Given the description of an element on the screen output the (x, y) to click on. 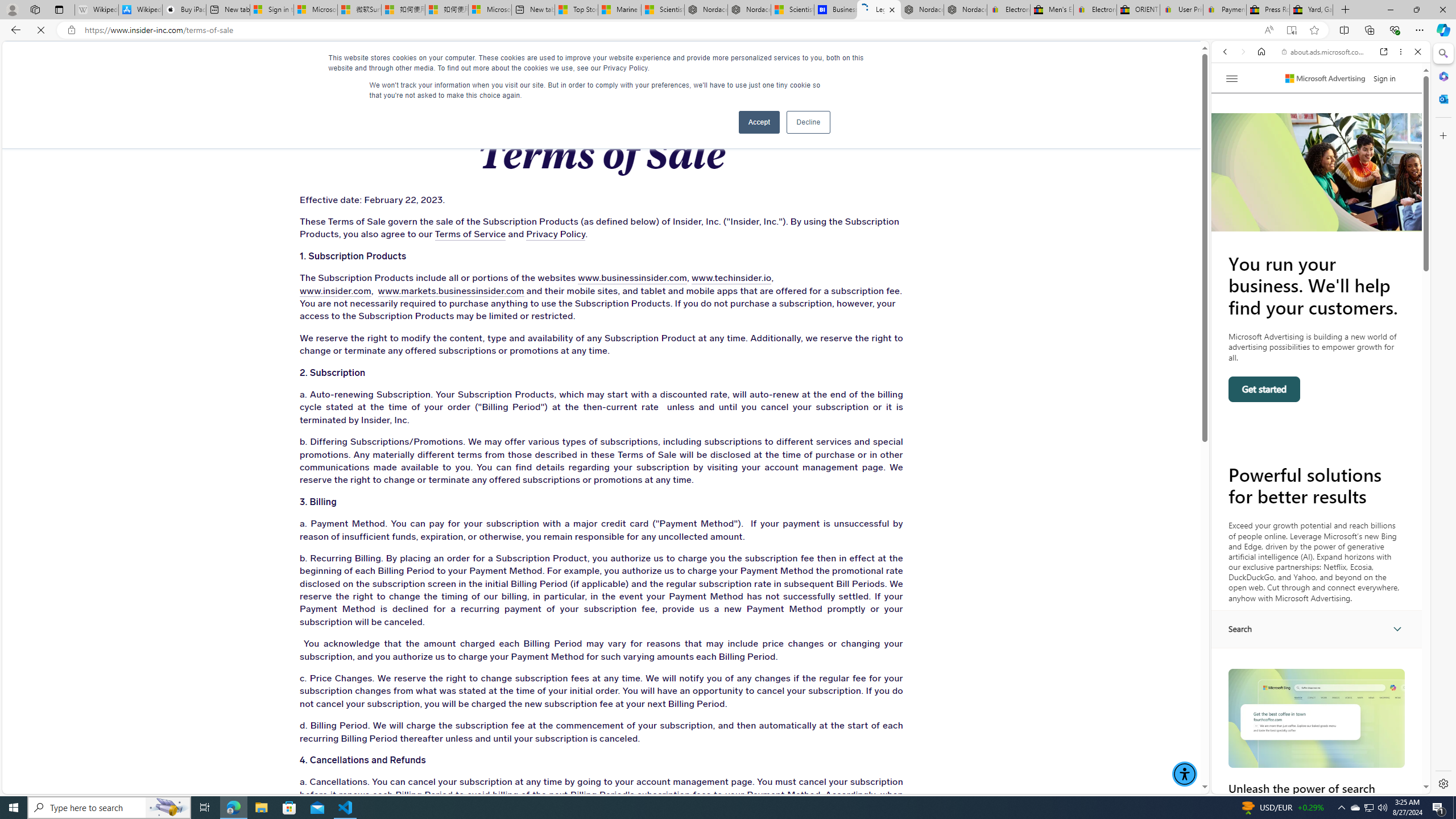
Insider Inc. (602, 63)
Insider Inc. (601, 62)
Microsoft Advertising (1325, 78)
AutomationID: search (1316, 628)
www.techinsider.io (689, 278)
